Given the description of an element on the screen output the (x, y) to click on. 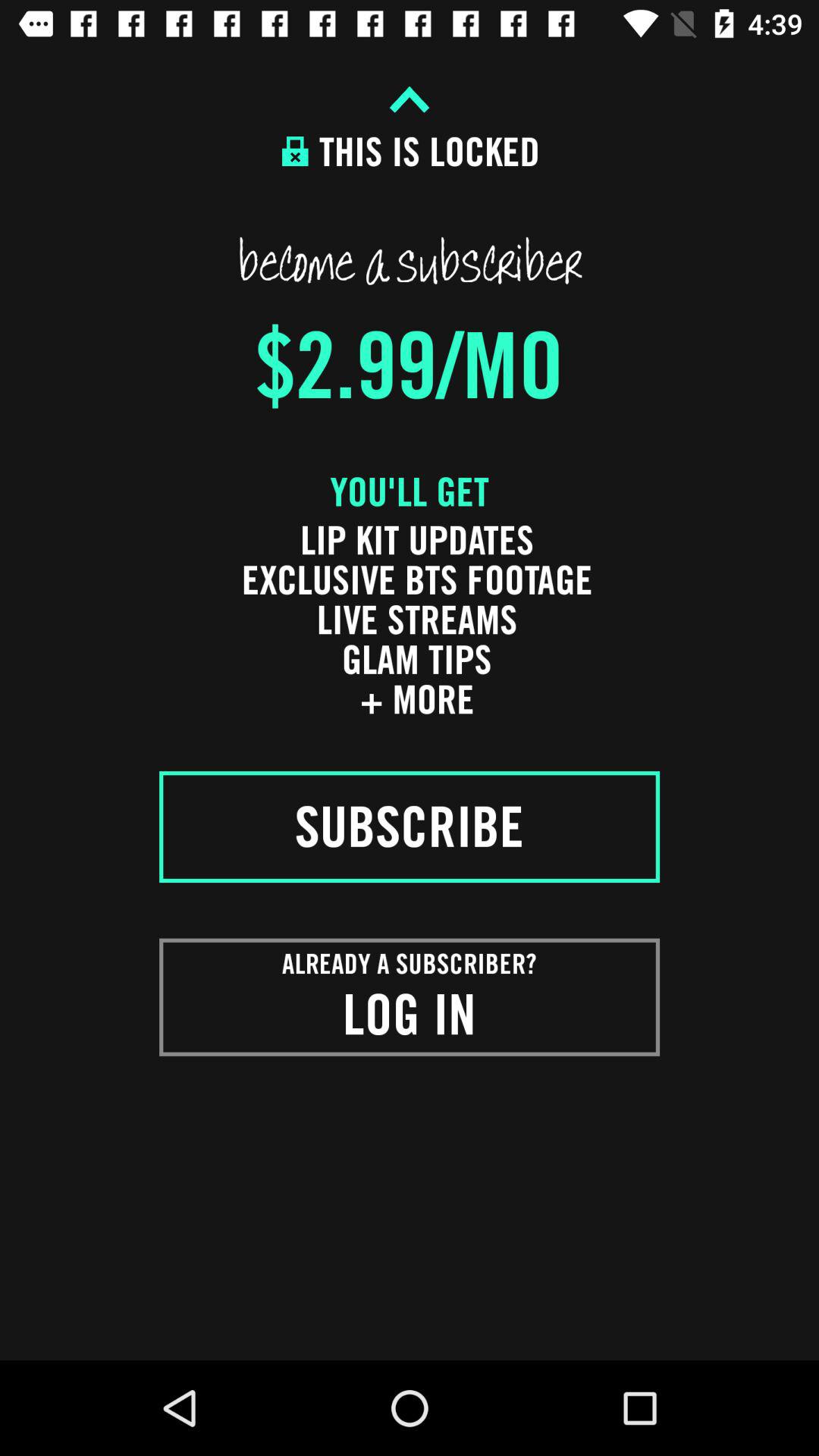
launch subscribe item (409, 826)
